Given the description of an element on the screen output the (x, y) to click on. 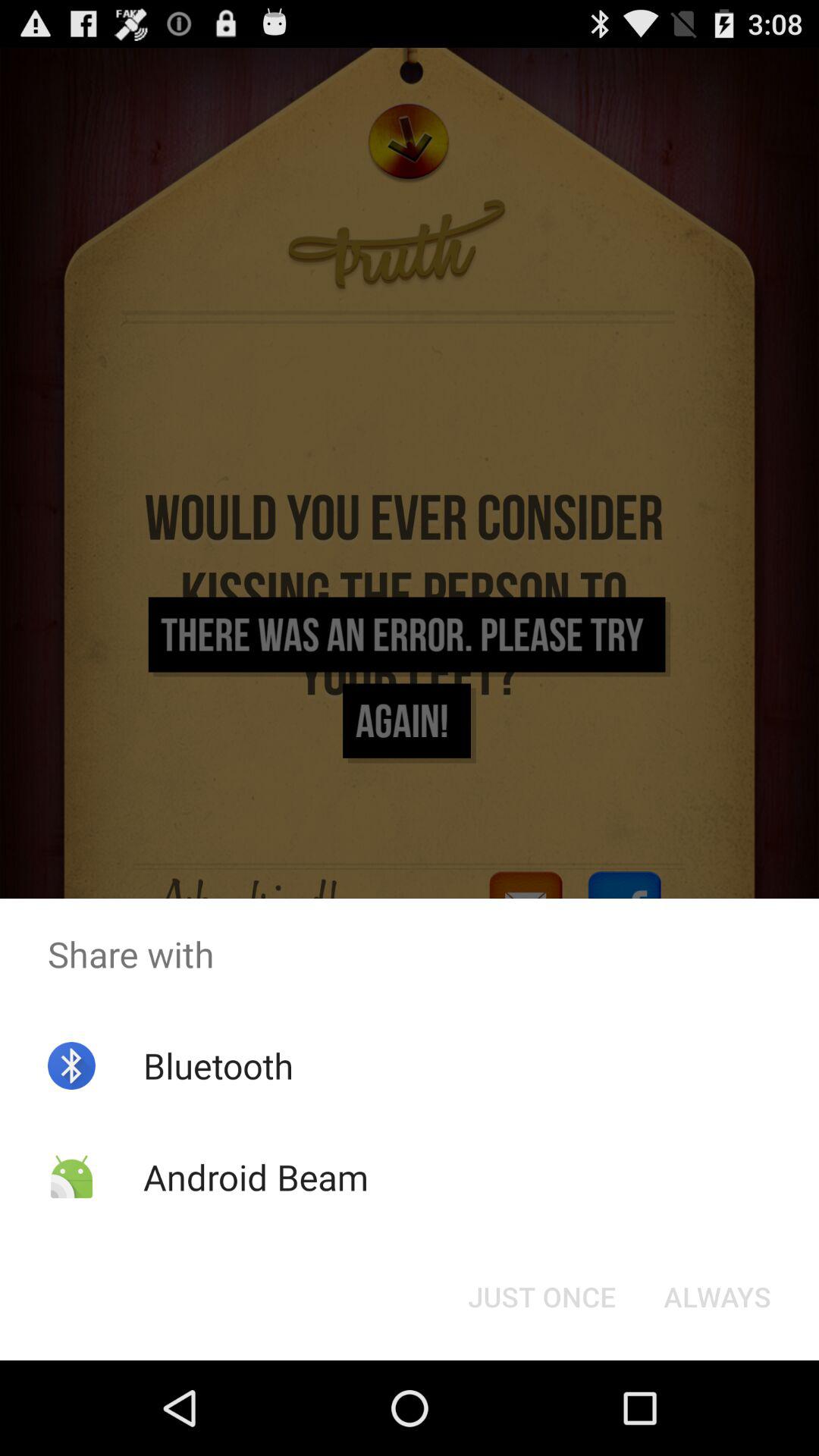
click always at the bottom right corner (717, 1296)
